Given the description of an element on the screen output the (x, y) to click on. 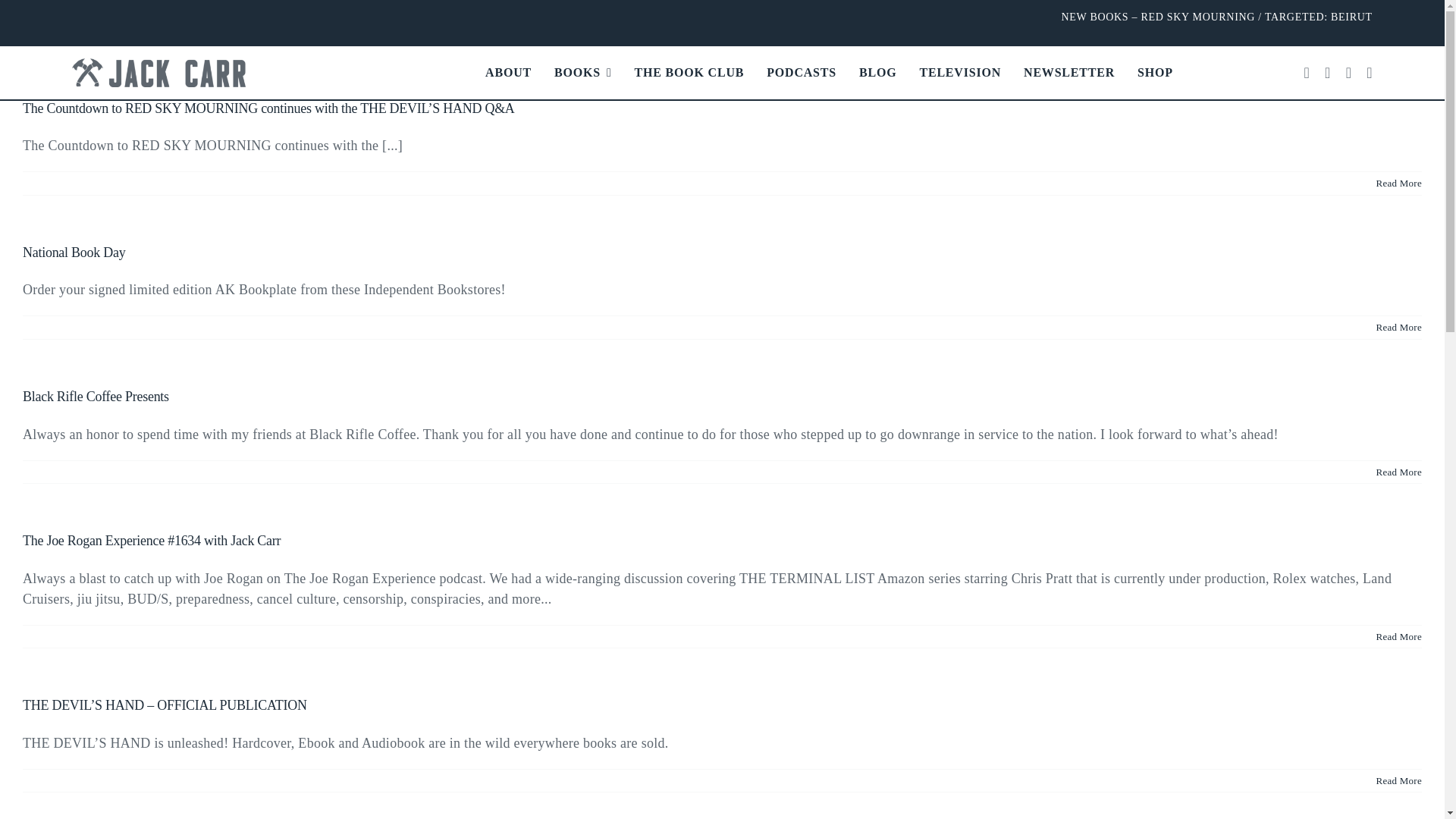
National Book Day (74, 252)
BOOKS (582, 72)
NEWSLETTER (1069, 72)
Read More (1398, 471)
TELEVISION (959, 72)
ABOUT (507, 72)
Black Rifle Coffee Presents (95, 396)
Read More (1398, 636)
PODCASTS (801, 72)
Read More (1398, 183)
BLOG (877, 72)
Read More (1398, 326)
SHOP (1155, 72)
THE BOOK CLUB (689, 72)
RED SKY MOURNING (1197, 16)
